Given the description of an element on the screen output the (x, y) to click on. 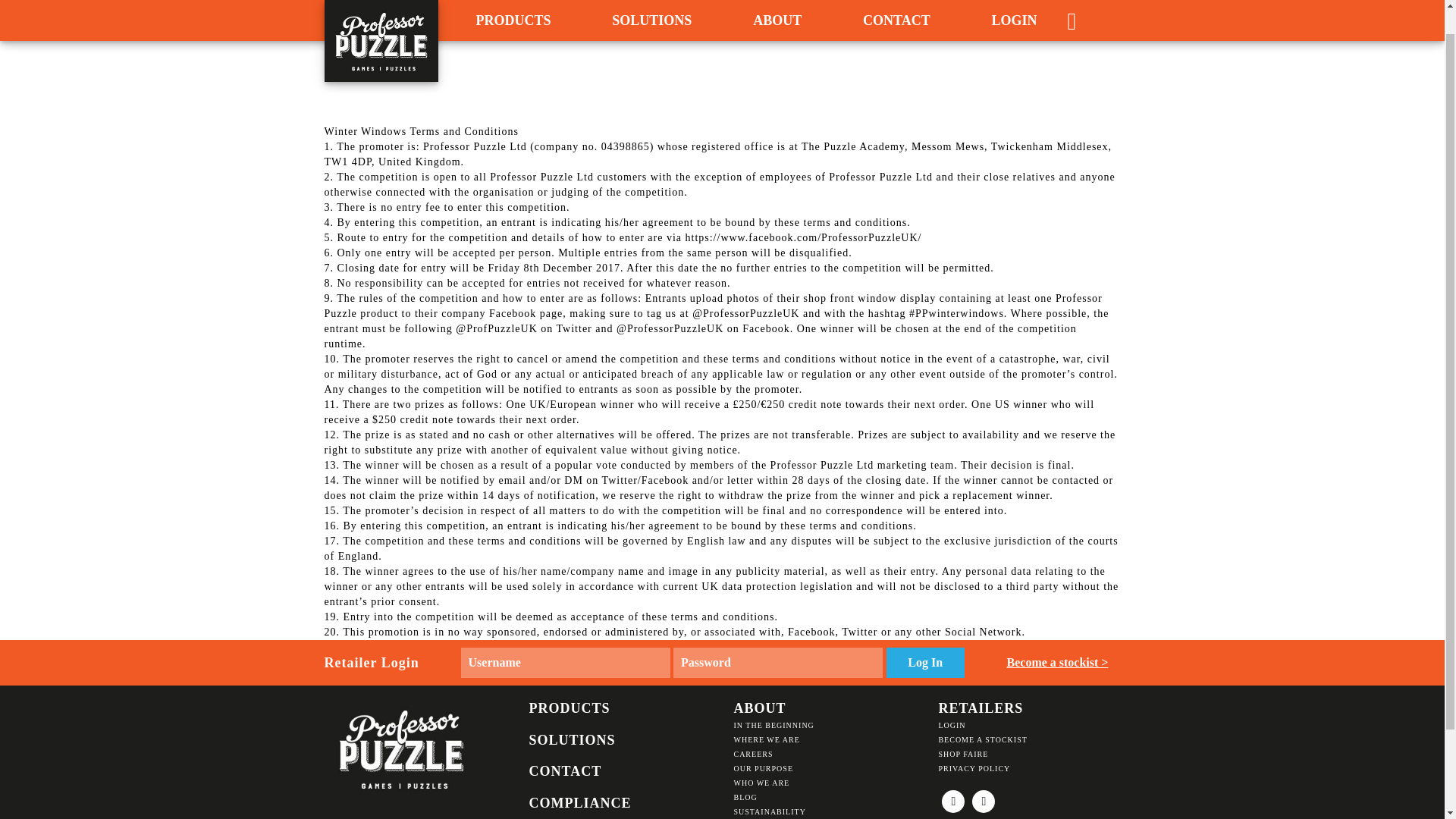
Log In (924, 662)
LOGIN (1013, 6)
SOLUTIONS (651, 6)
CONTACT (895, 6)
PRODUCTS (513, 6)
ABOUT (777, 6)
